Given the description of an element on the screen output the (x, y) to click on. 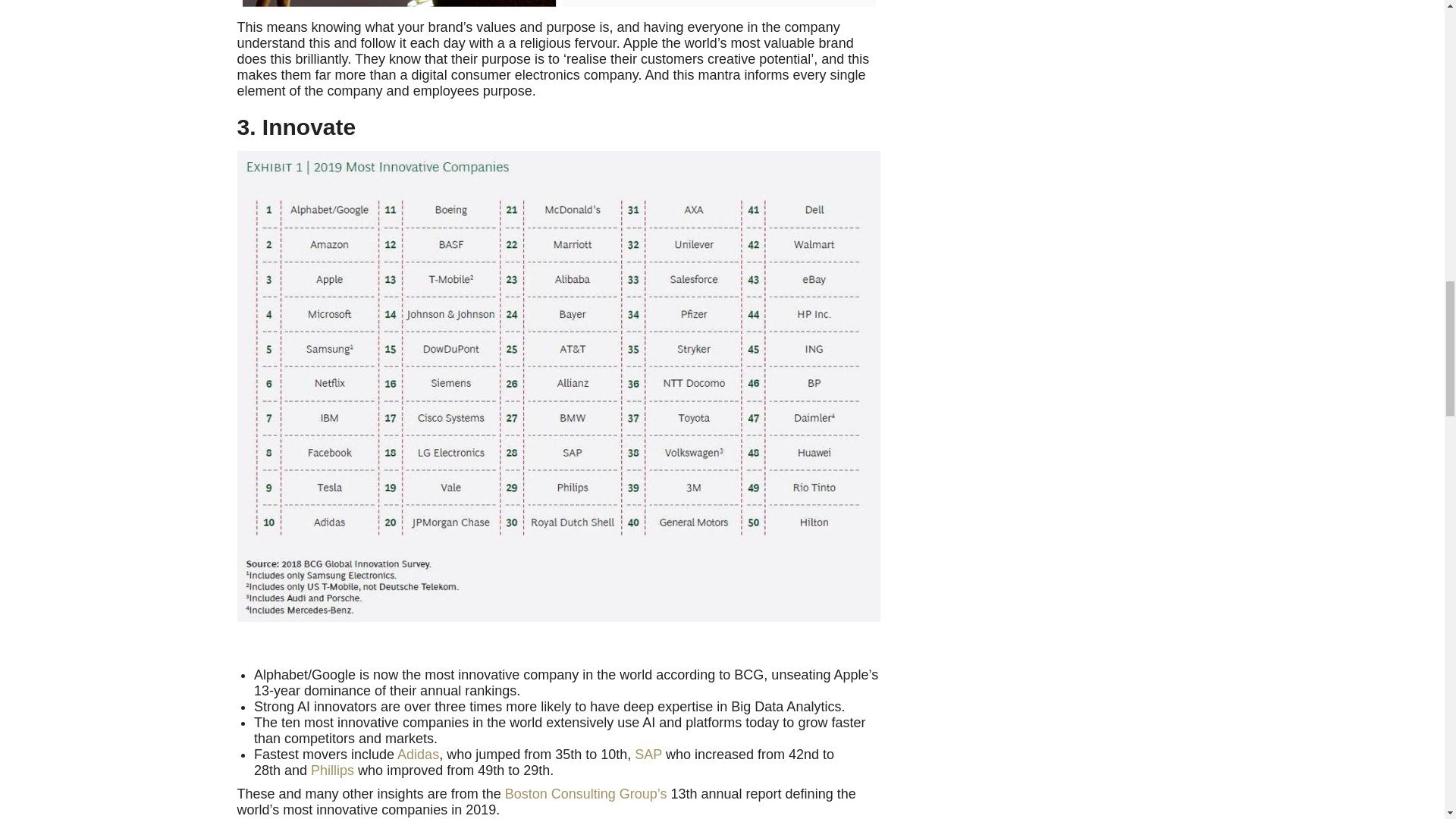
Adidas (418, 754)
Phillips (332, 770)
SAP (648, 754)
